Given the description of an element on the screen output the (x, y) to click on. 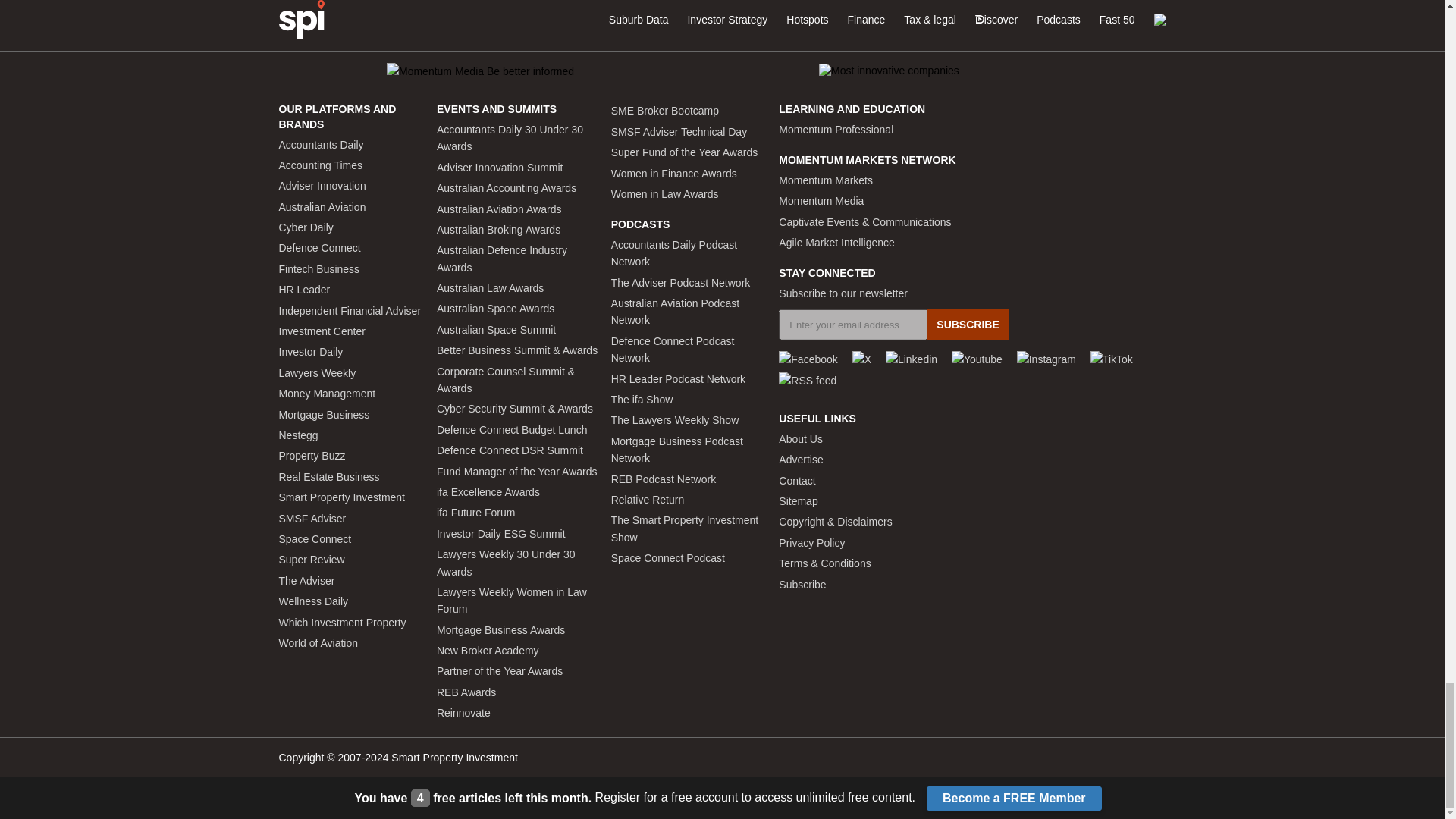
SUBSCRIBE (967, 324)
